Given the description of an element on the screen output the (x, y) to click on. 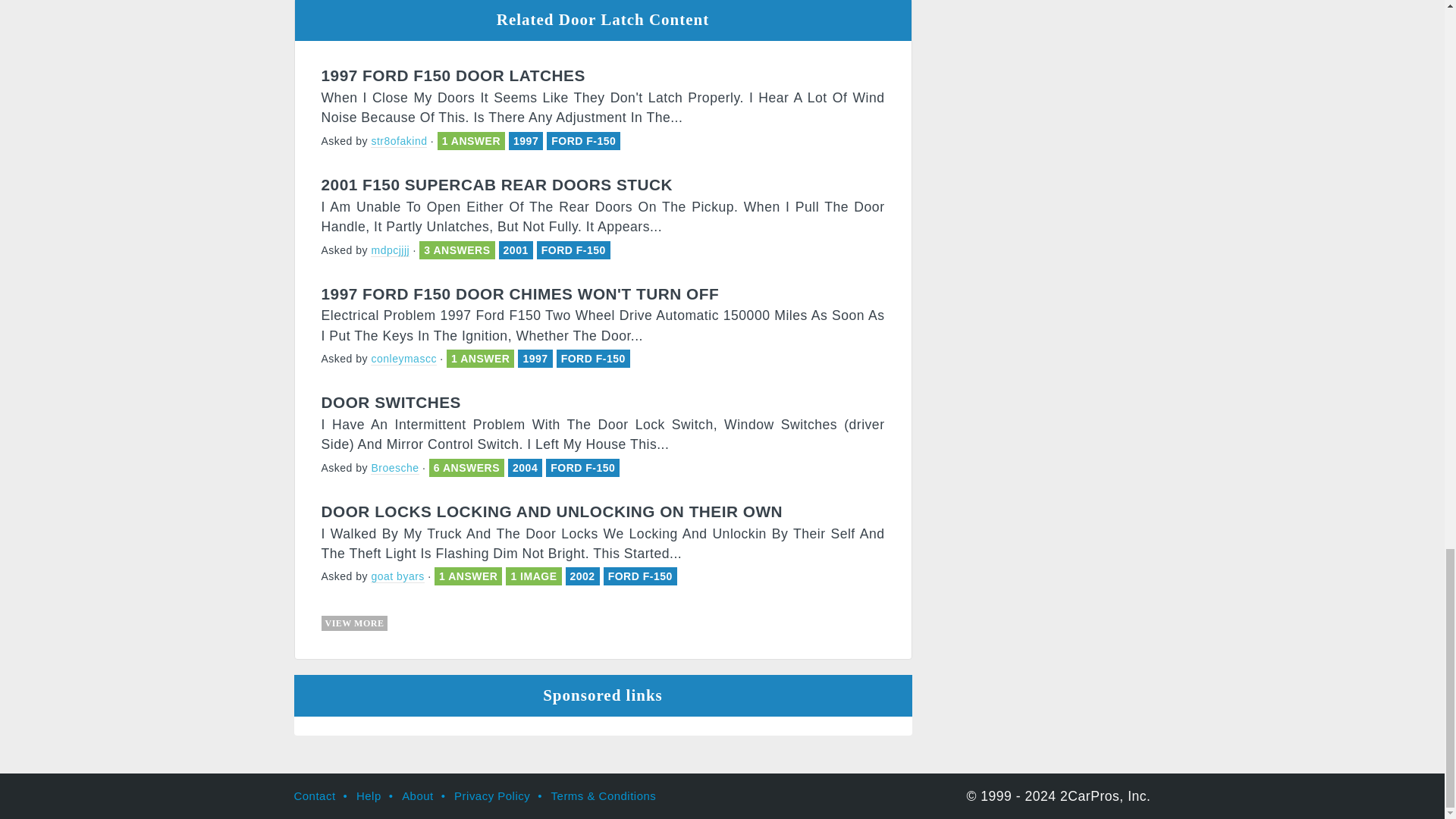
mdpcjjjj (390, 250)
FORD F-150 (573, 250)
conleymascc (403, 358)
FORD F-150 (593, 358)
FORD F-150 (583, 141)
str8ofakind (398, 141)
